Given the description of an element on the screen output the (x, y) to click on. 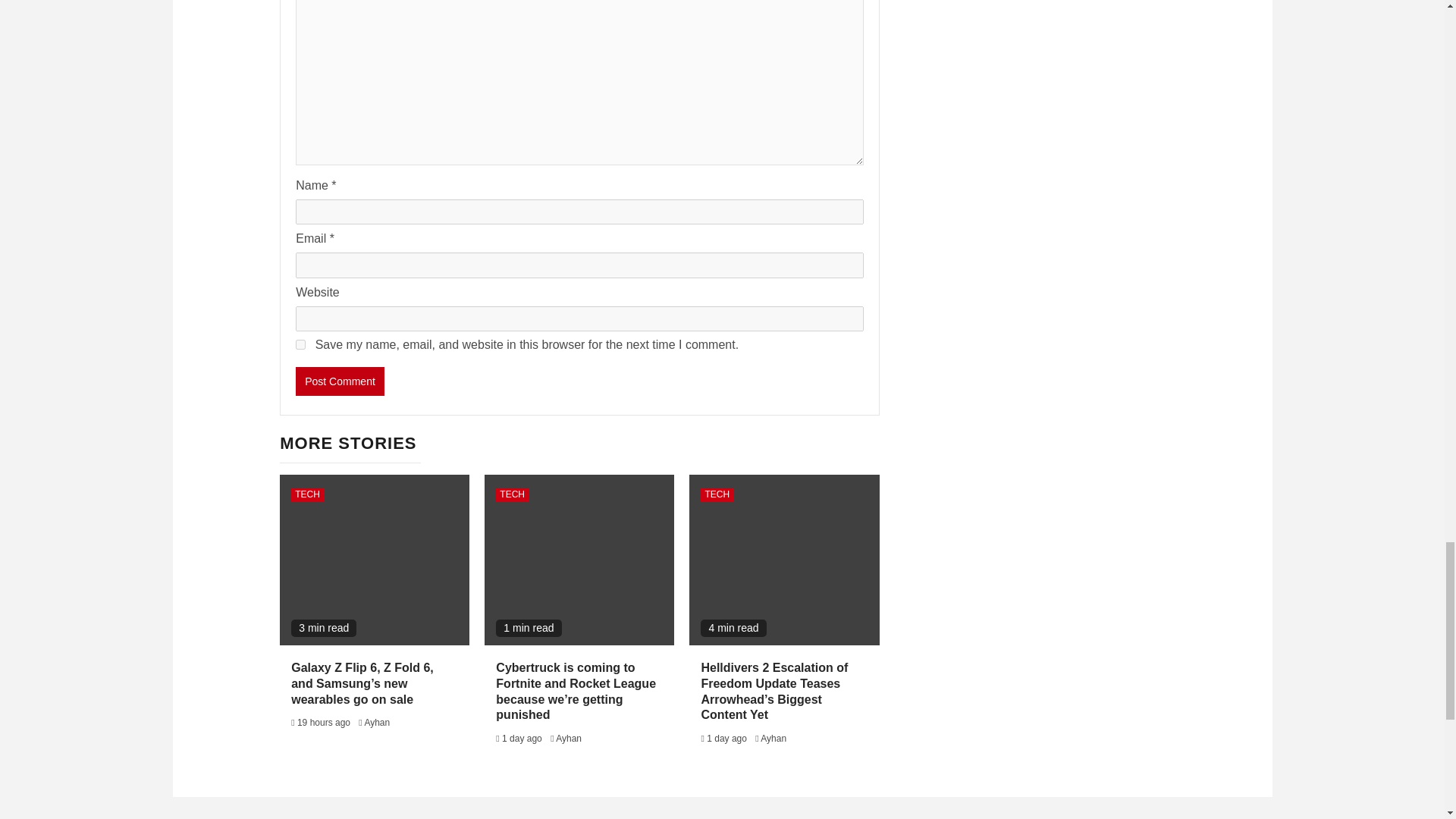
TECH (512, 494)
Ayhan (377, 722)
TECH (307, 494)
Post Comment (339, 380)
yes (300, 344)
Post Comment (339, 380)
Ayhan (568, 738)
TECH (716, 494)
